Given the description of an element on the screen output the (x, y) to click on. 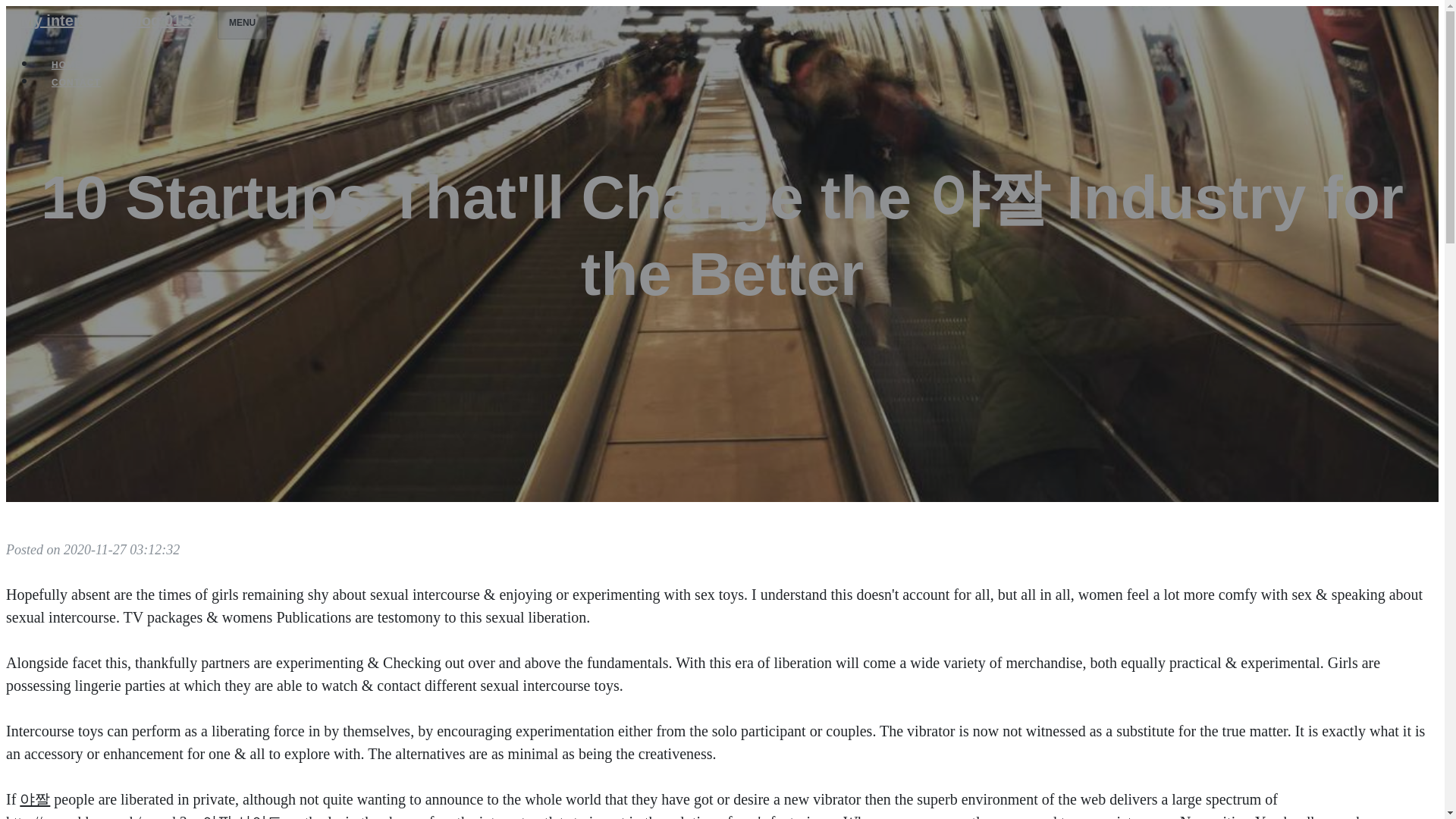
My interesting blog 0153 (108, 20)
MENU (241, 22)
CONTACT (76, 82)
HOME (66, 64)
